Given the description of an element on the screen output the (x, y) to click on. 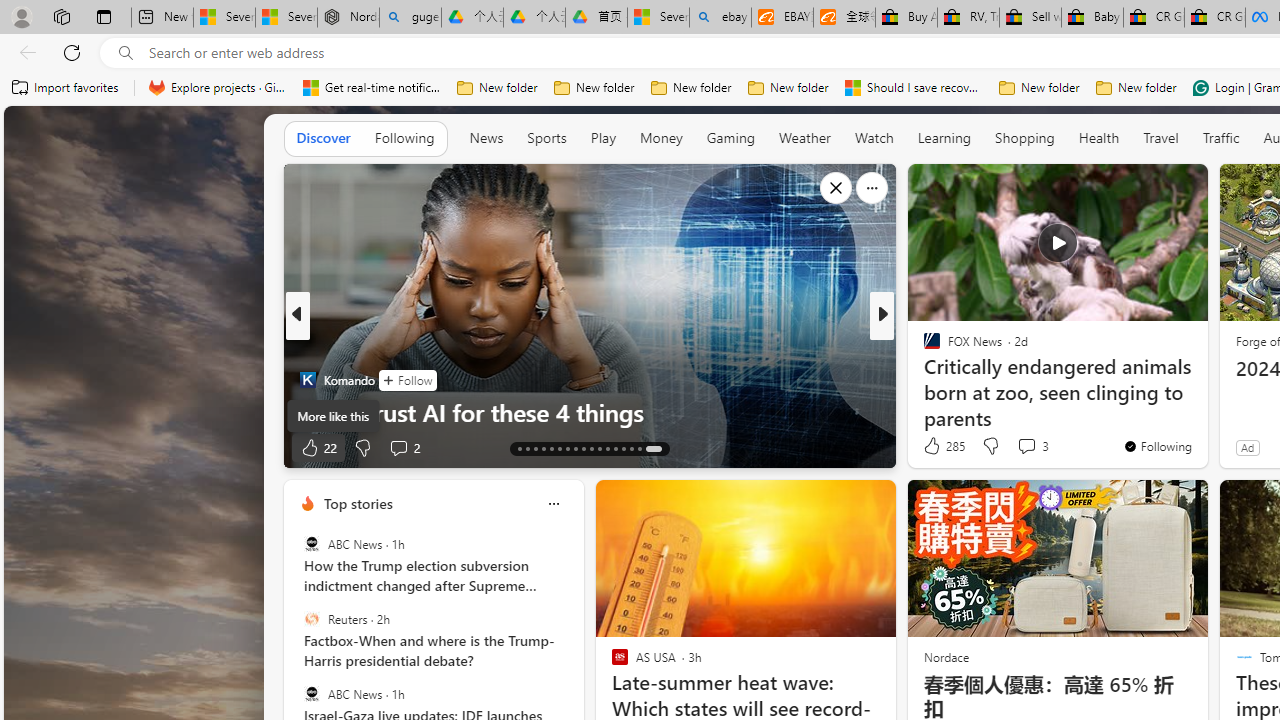
Dislike (989, 446)
RV, Trailer & Camper Steps & Ladders for sale | eBay (968, 17)
View comments 2 Comment (398, 447)
AutomationID: tab-23 (599, 448)
285 Like (942, 446)
AutomationID: tab-16 (542, 448)
Health (1099, 137)
AutomationID: tab-42 (653, 448)
AutomationID: tab-19 (567, 448)
Money (660, 137)
